Given the description of an element on the screen output the (x, y) to click on. 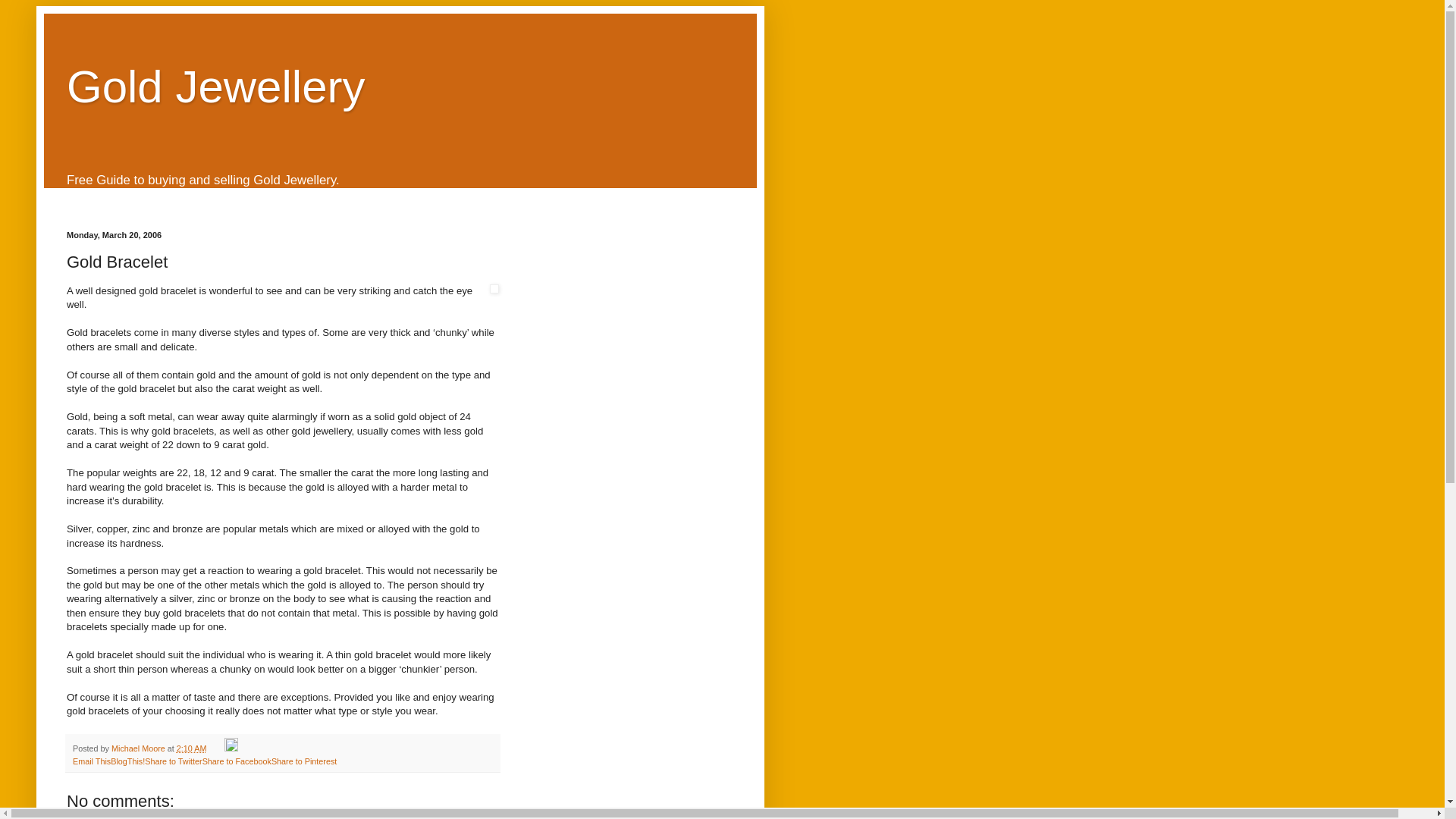
Share to Facebook (236, 760)
Share to Facebook (236, 760)
Share to Twitter (173, 760)
2:10 AM (191, 747)
Email This (91, 760)
Email This (91, 760)
Share to Pinterest (303, 760)
BlogThis! (127, 760)
Share to Twitter (173, 760)
BlogThis! (127, 760)
permanent link (191, 747)
author profile (139, 747)
Gold Jewellery (215, 86)
Share to Pinterest (303, 760)
Edit Post (231, 747)
